Given the description of an element on the screen output the (x, y) to click on. 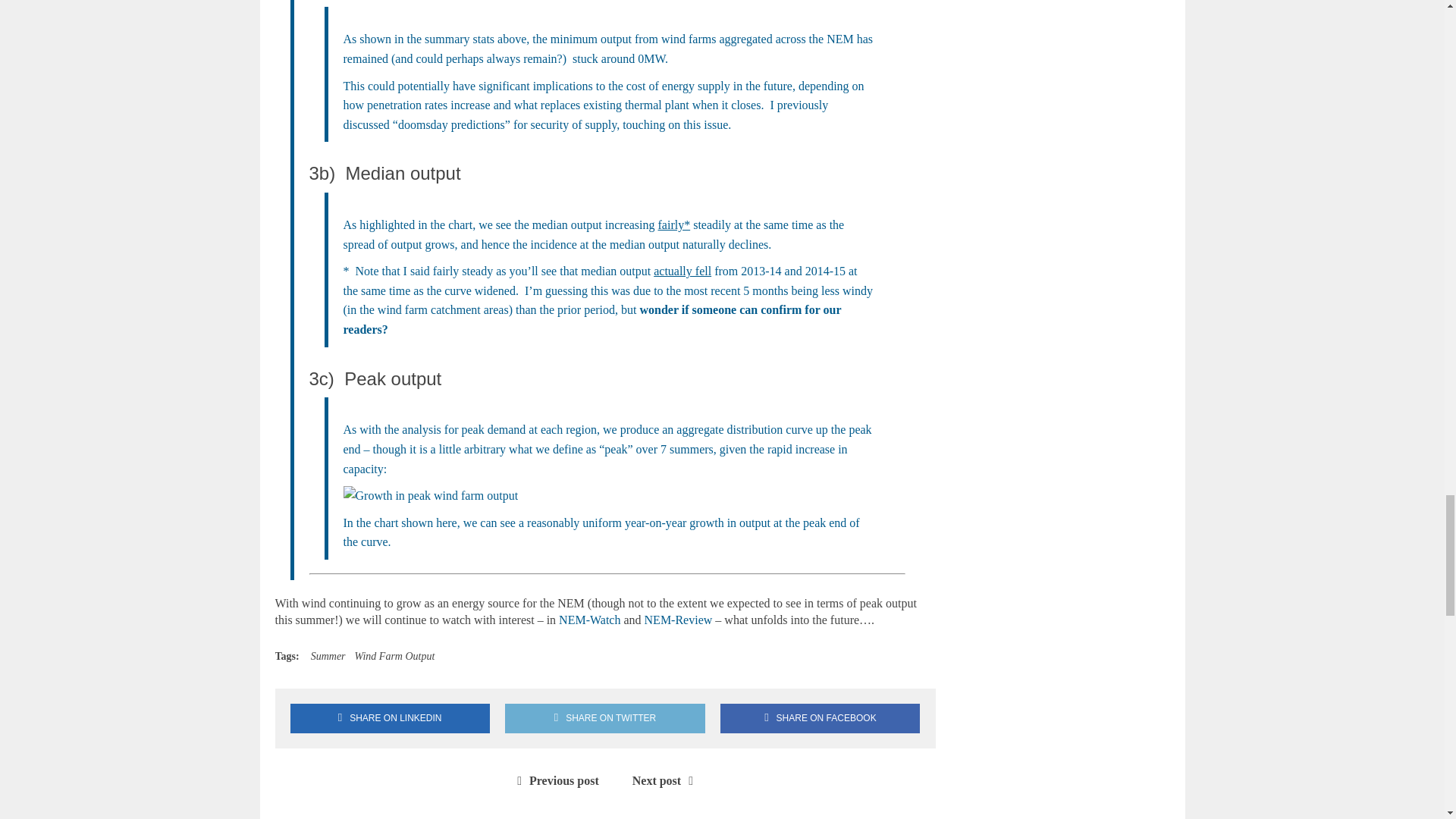
Growth in peak wind farm output (430, 496)
Share on Linkedin (389, 718)
Tweet This Post (604, 718)
Share on Facebook (820, 718)
